Given the description of an element on the screen output the (x, y) to click on. 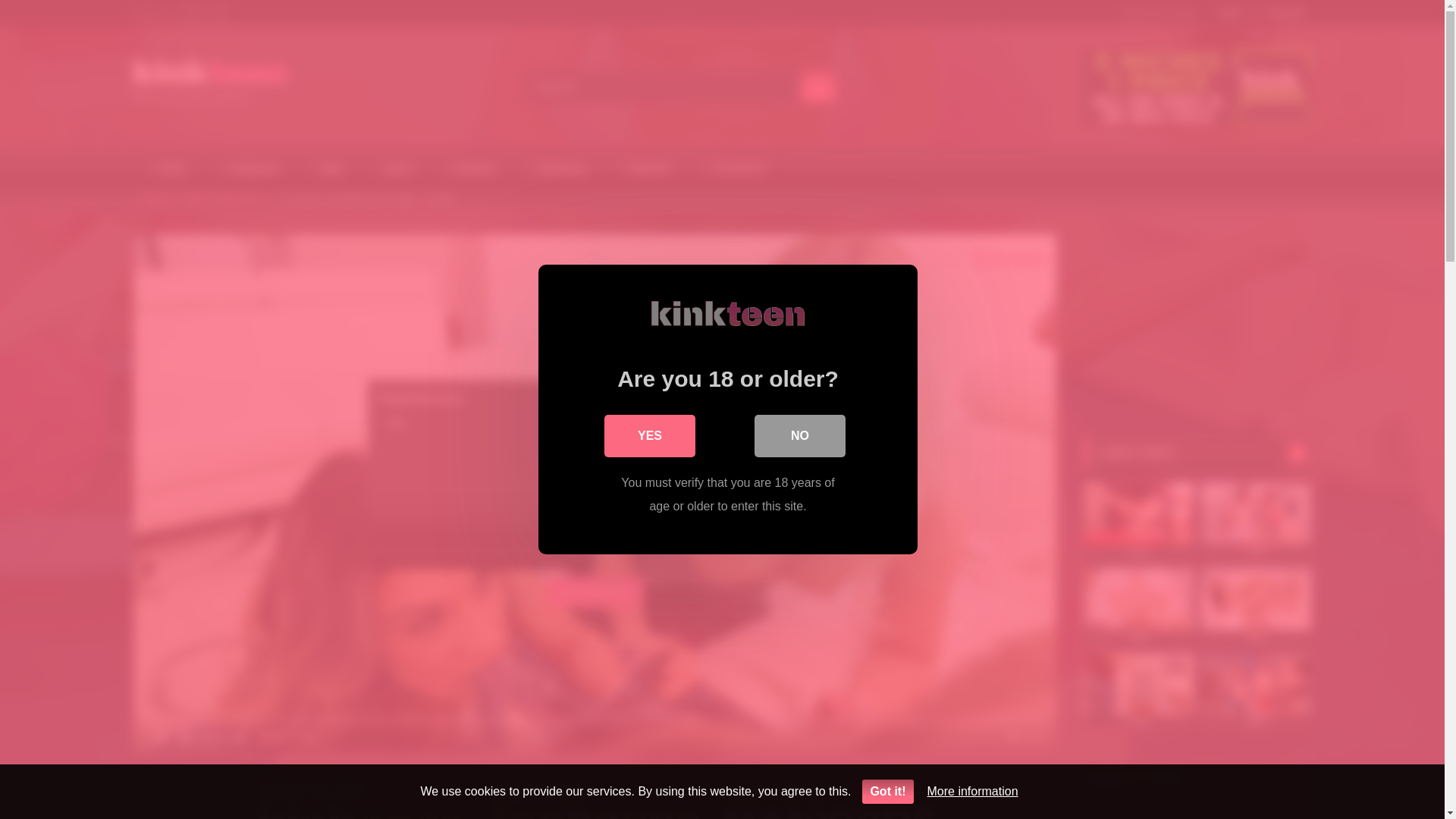
Moms Teach Sex (224, 198)
Register (1286, 12)
kinkteen.com (209, 74)
kinkpass (470, 168)
FapHouse (557, 168)
Home (155, 198)
Tags (326, 168)
Got it! (886, 791)
Home (169, 168)
Login (1228, 12)
Stripchat (644, 168)
Categories (249, 168)
Search... (662, 87)
LiveJasmin (733, 168)
More information (972, 790)
